Given the description of an element on the screen output the (x, y) to click on. 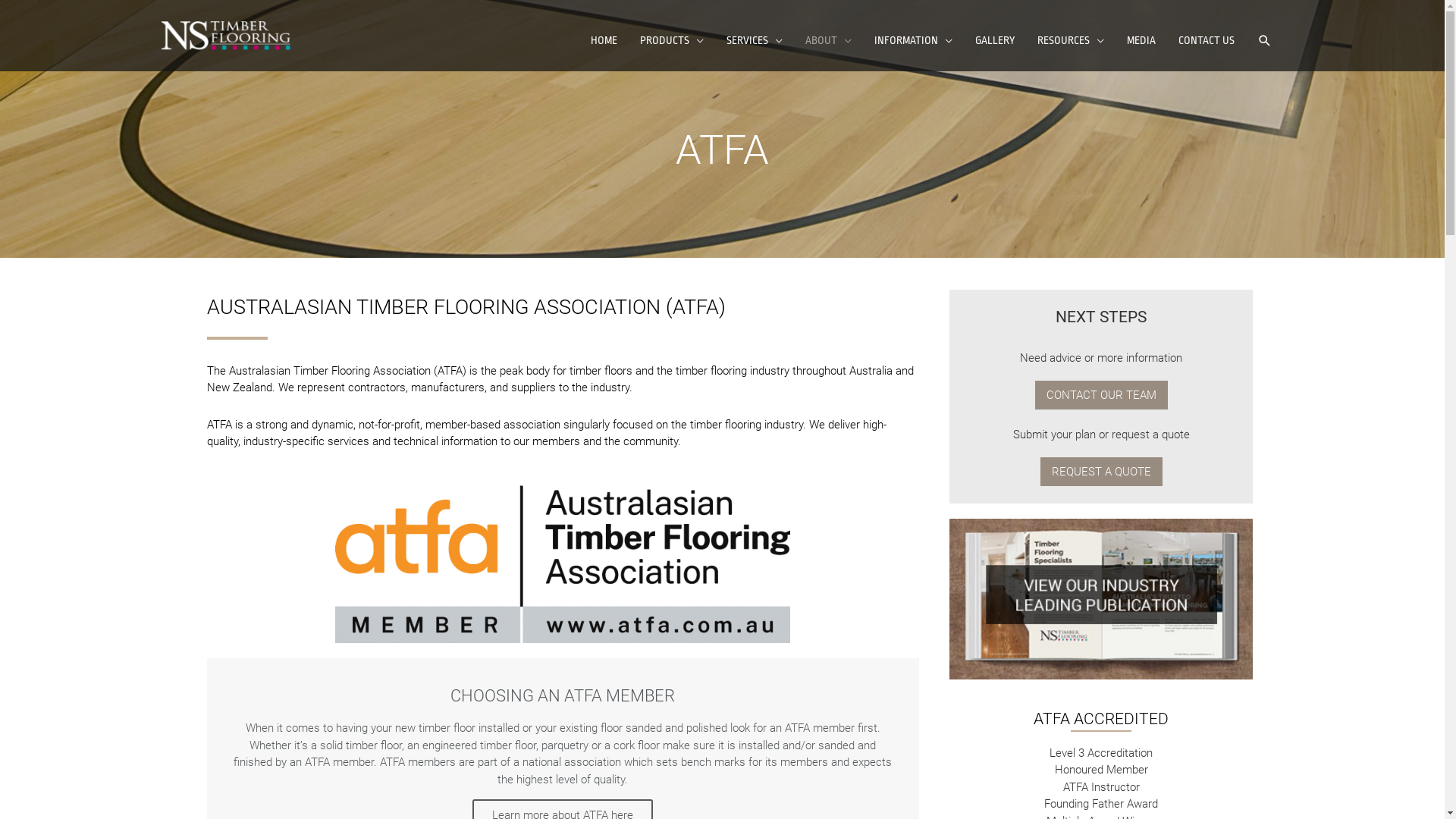
CONTACT US Element type: text (1205, 40)
INFORMATION Element type: text (912, 40)
REQUEST A QUOTE Element type: text (1101, 471)
ABOUT Element type: text (827, 40)
GALLERY Element type: text (994, 40)
CONTACT OUR TEAM Element type: text (1101, 394)
PRODUCTS Element type: text (670, 40)
MEDIA Element type: text (1140, 40)
SERVICES Element type: text (753, 40)
HOME Element type: text (603, 40)
RESOURCES Element type: text (1069, 40)
